Given the description of an element on the screen output the (x, y) to click on. 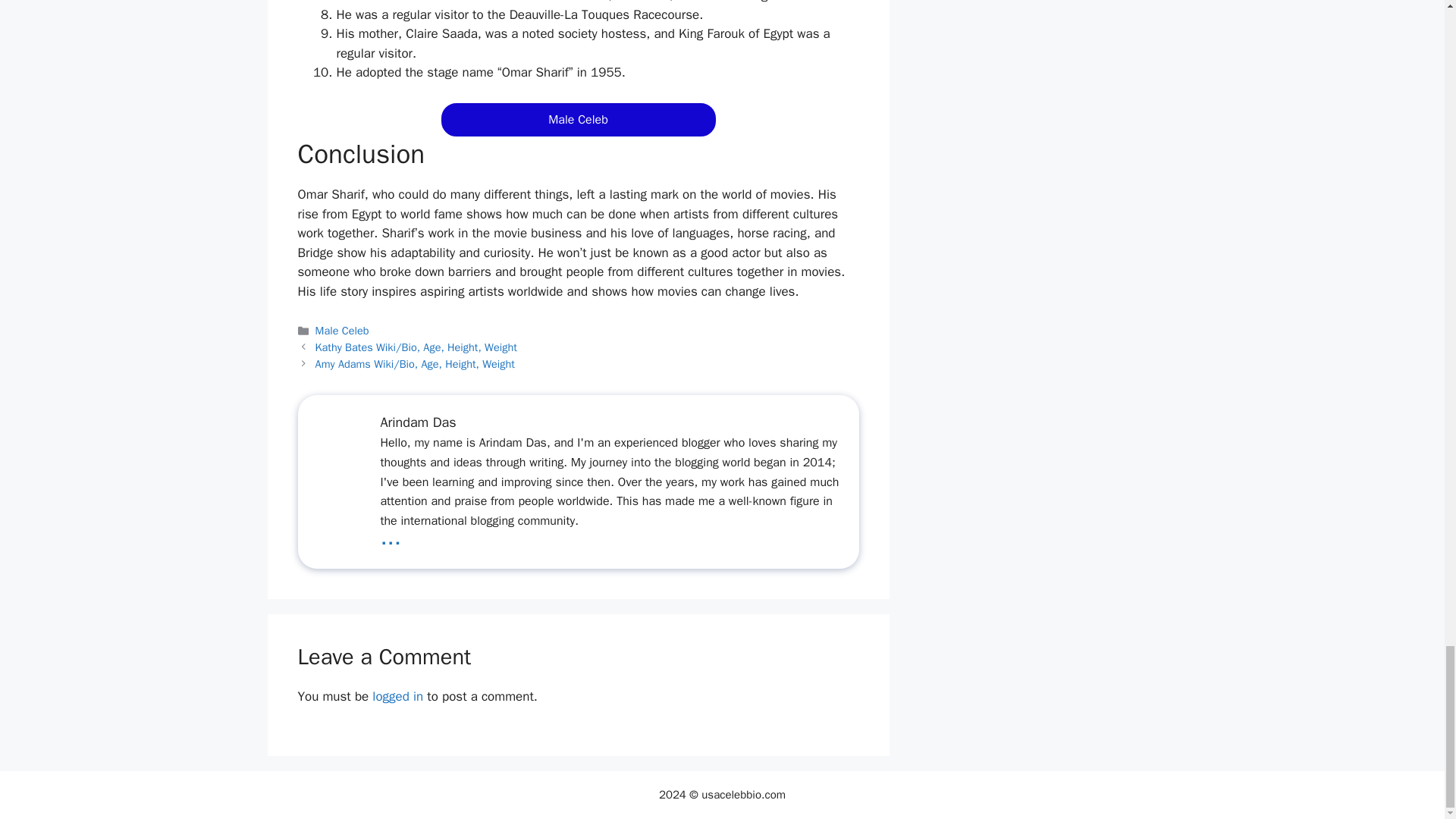
logged in (397, 696)
Male Celeb (578, 119)
Male Celeb (342, 330)
